Given the description of an element on the screen output the (x, y) to click on. 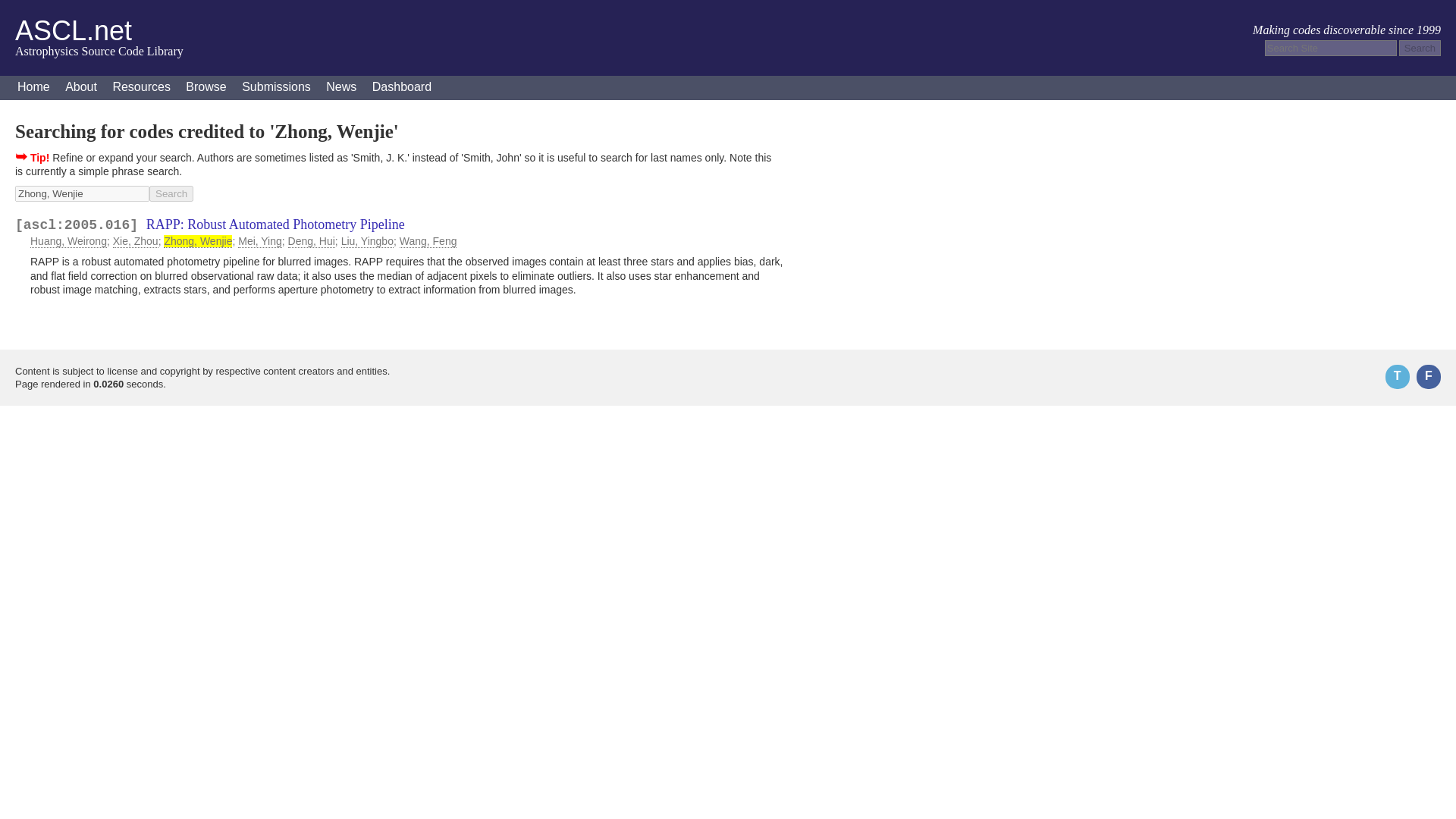
Search (171, 193)
Home (33, 87)
Xie, Zhou (135, 241)
Huang, Weirong (68, 241)
About (81, 87)
Wang, Feng (427, 241)
F (1428, 376)
Dashboard (402, 87)
Like ASCL on Facebook (1428, 376)
Search (171, 193)
Browse (205, 87)
Zhong, Wenjie (81, 193)
Mei, Ying (260, 241)
Follow ASCL on Twitter (1397, 376)
Resources (141, 87)
